Given the description of an element on the screen output the (x, y) to click on. 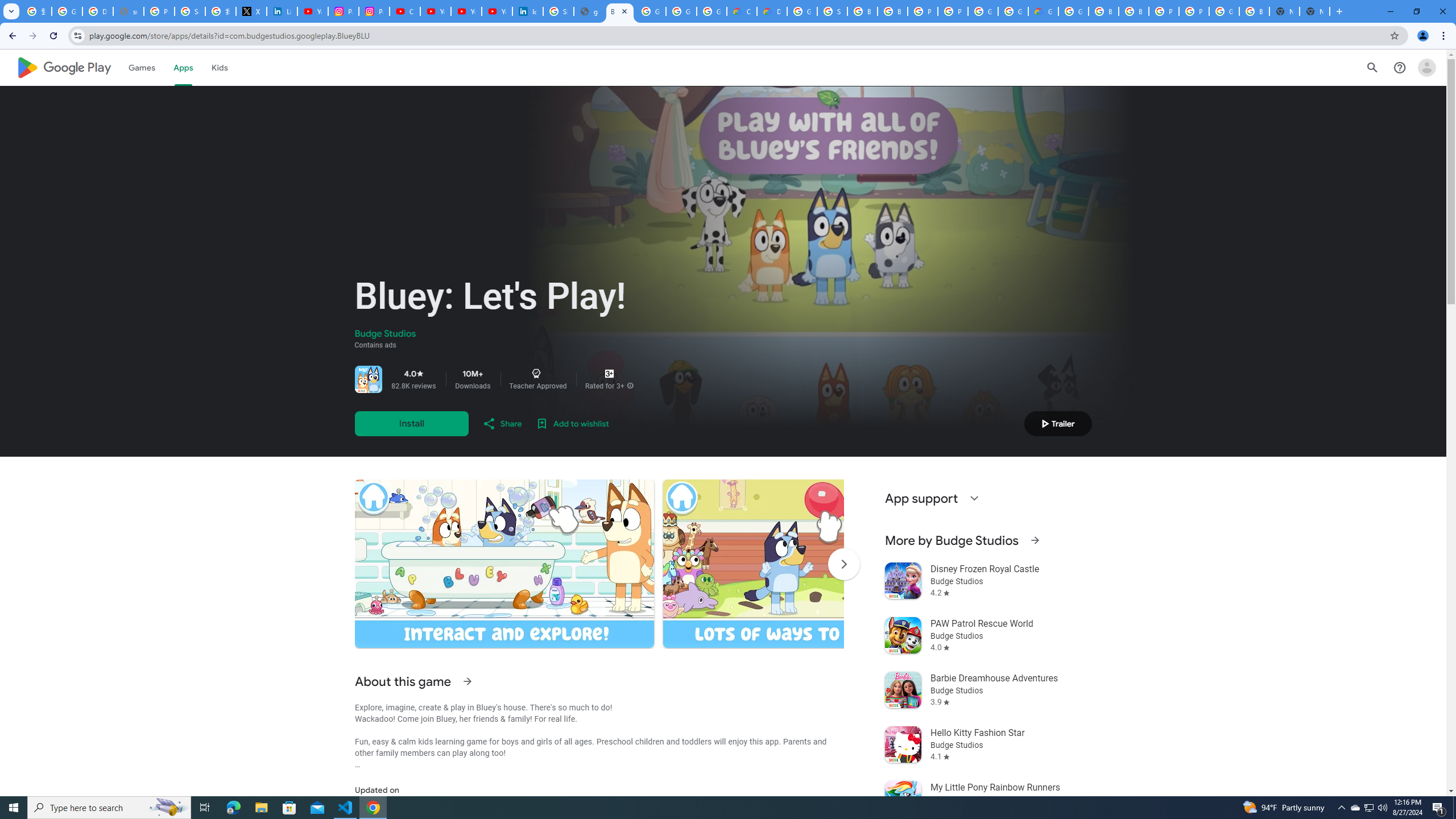
Add to wishlist (571, 422)
Google Play logo (64, 67)
LinkedIn Privacy Policy (282, 11)
Expand (973, 497)
Google Cloud Platform (1224, 11)
See more information on About this game (466, 681)
More info about this content rating (630, 385)
Content rating (609, 373)
See more information on More by Budge Studios (1034, 539)
